Given the description of an element on the screen output the (x, y) to click on. 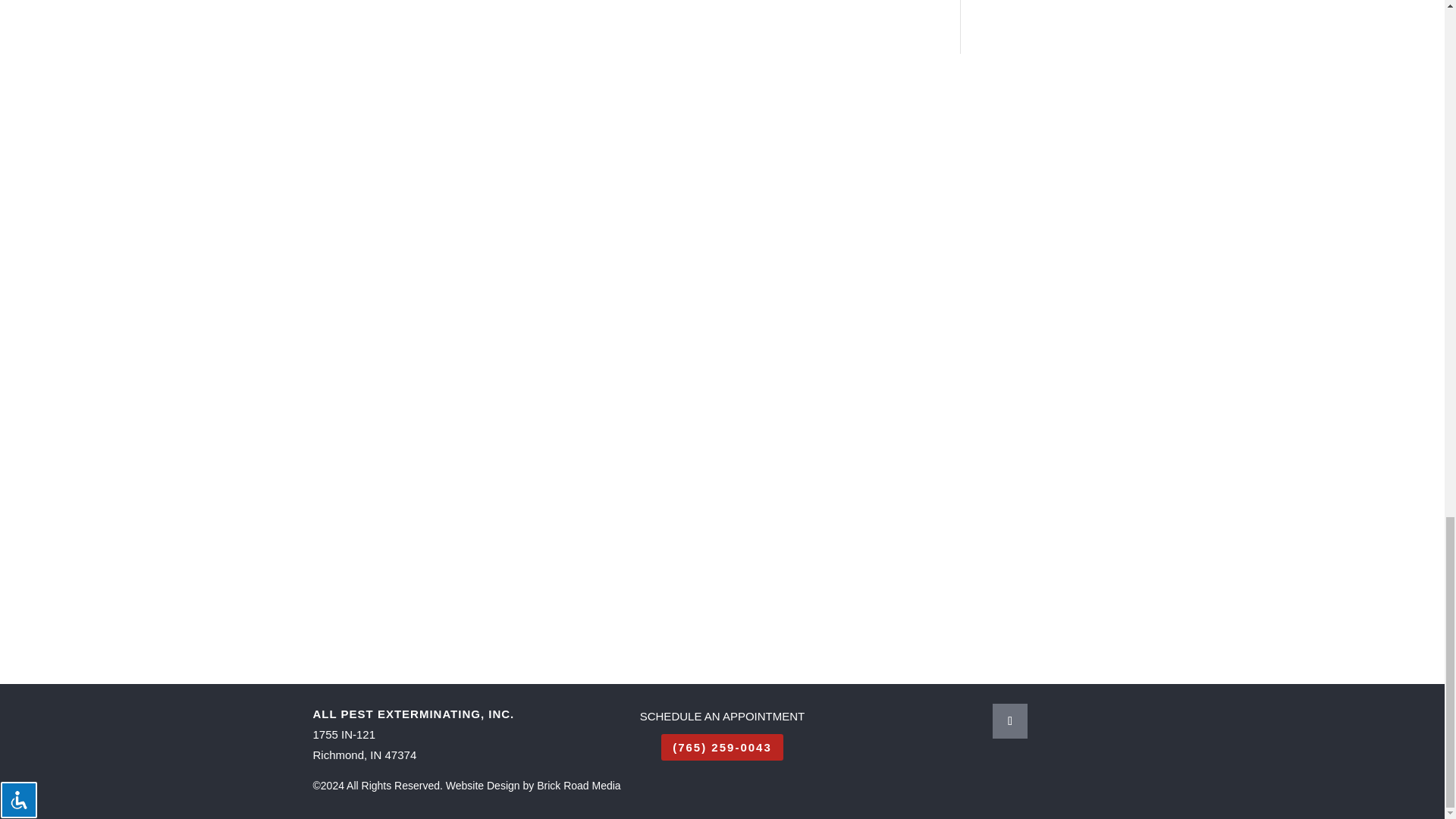
Follow on Facebook (1009, 720)
